Given the description of an element on the screen output the (x, y) to click on. 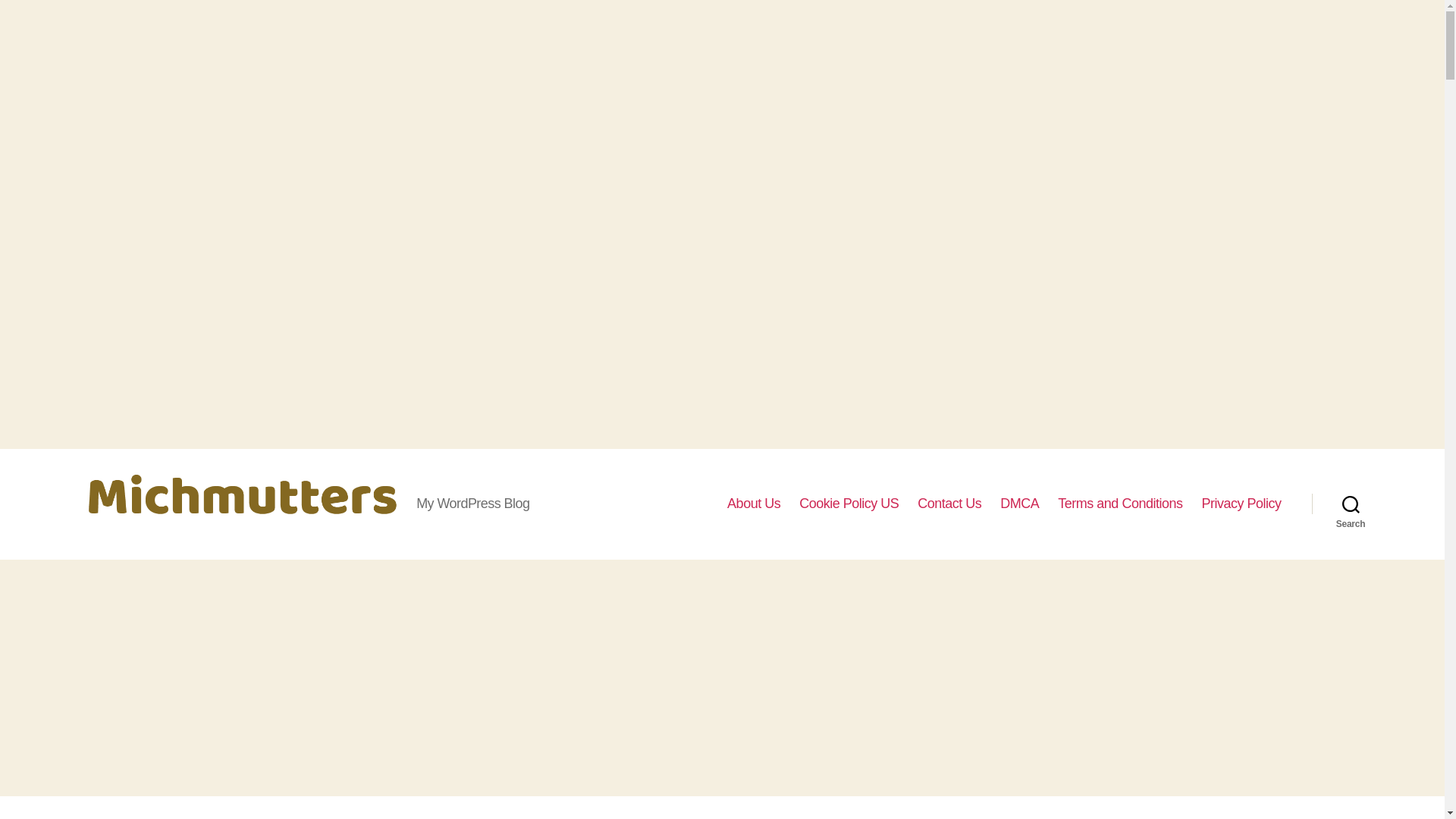
Terms and Conditions (1120, 504)
Contact Us (949, 504)
Search (1350, 503)
Cookie Policy US (848, 504)
Privacy Policy (1241, 504)
About Us (753, 504)
DMCA (1019, 504)
